Given the description of an element on the screen output the (x, y) to click on. 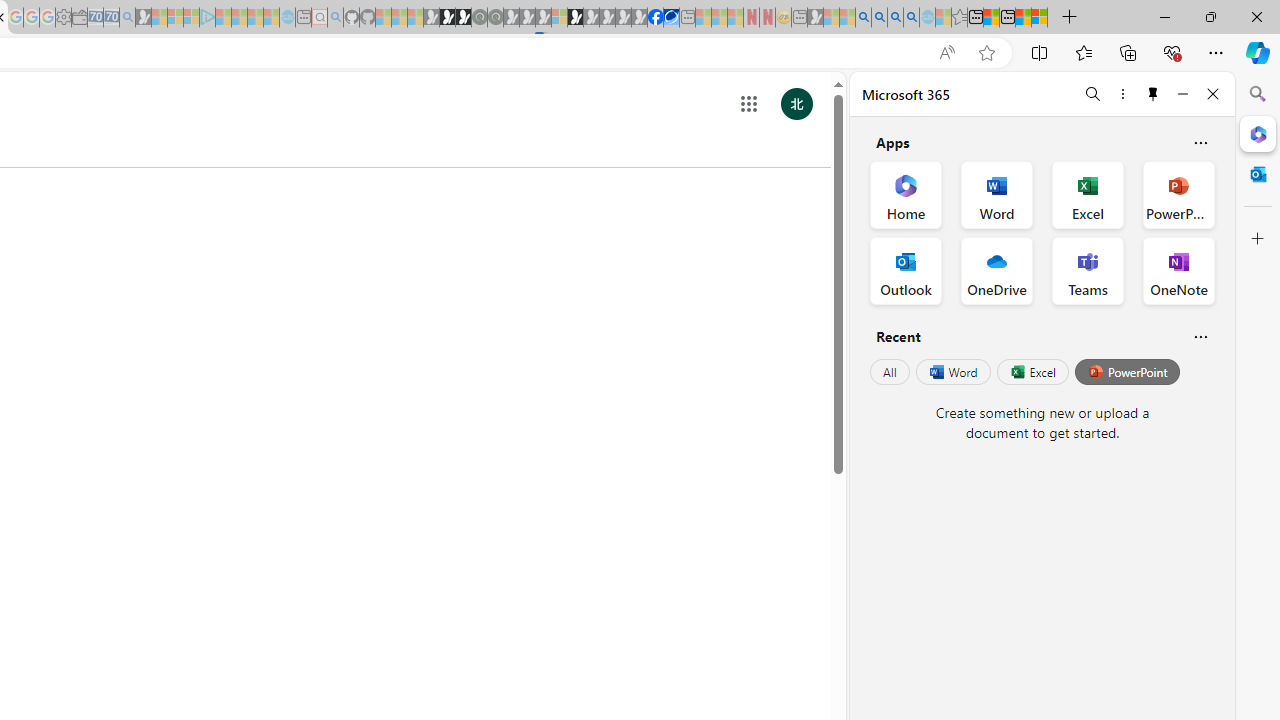
Close Microsoft 365 pane (1258, 133)
Future Focus Report 2024 - Sleeping (495, 17)
Class: gb_E (749, 103)
AirNow.gov (671, 17)
github - Search - Sleeping (335, 17)
